Given the description of an element on the screen output the (x, y) to click on. 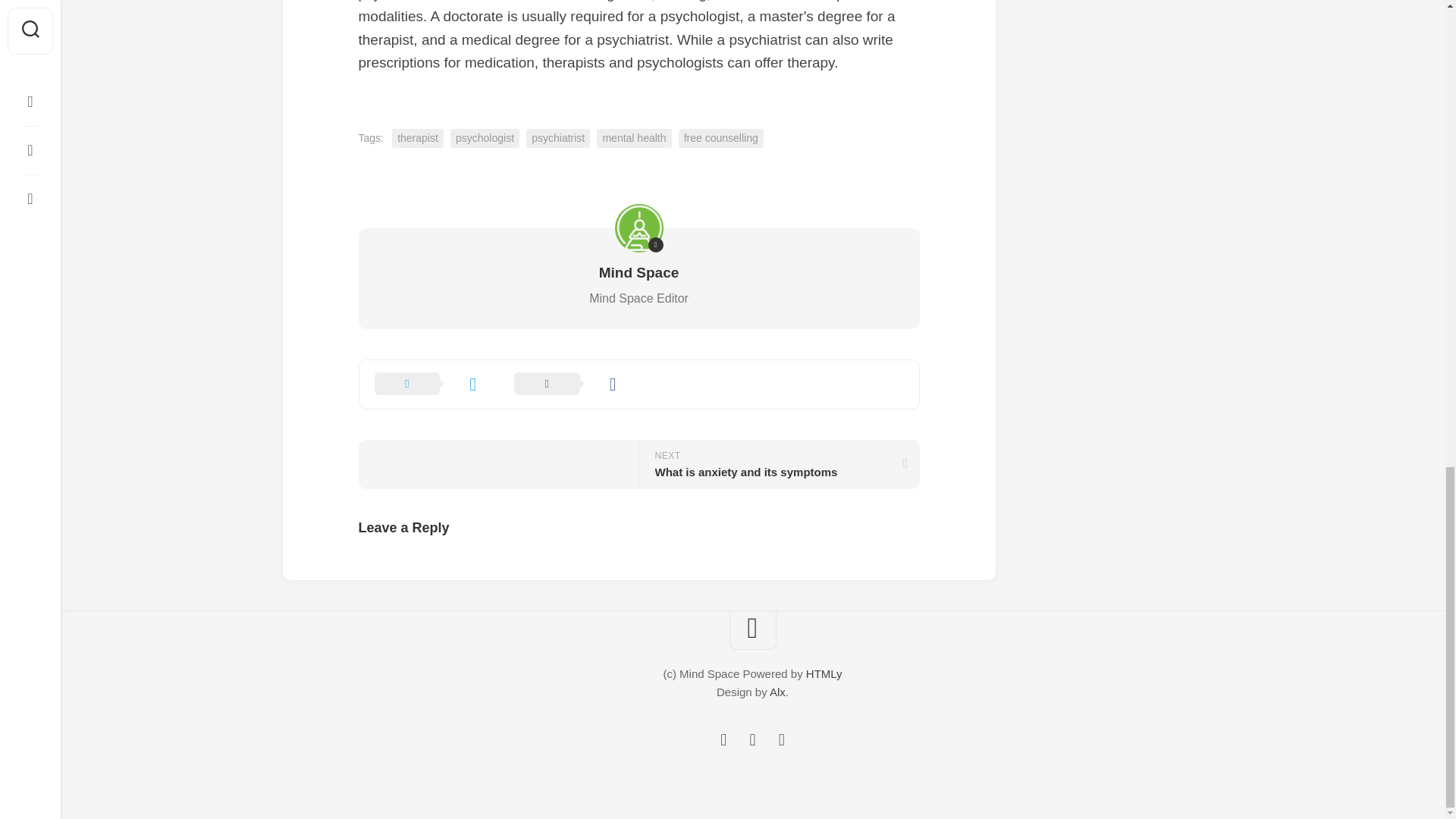
mental health (633, 138)
Facebook (778, 463)
Twitter (723, 740)
RSS (752, 740)
psychologist (781, 740)
therapist (484, 138)
free counselling (417, 138)
psychiatrist (720, 138)
